Given the description of an element on the screen output the (x, y) to click on. 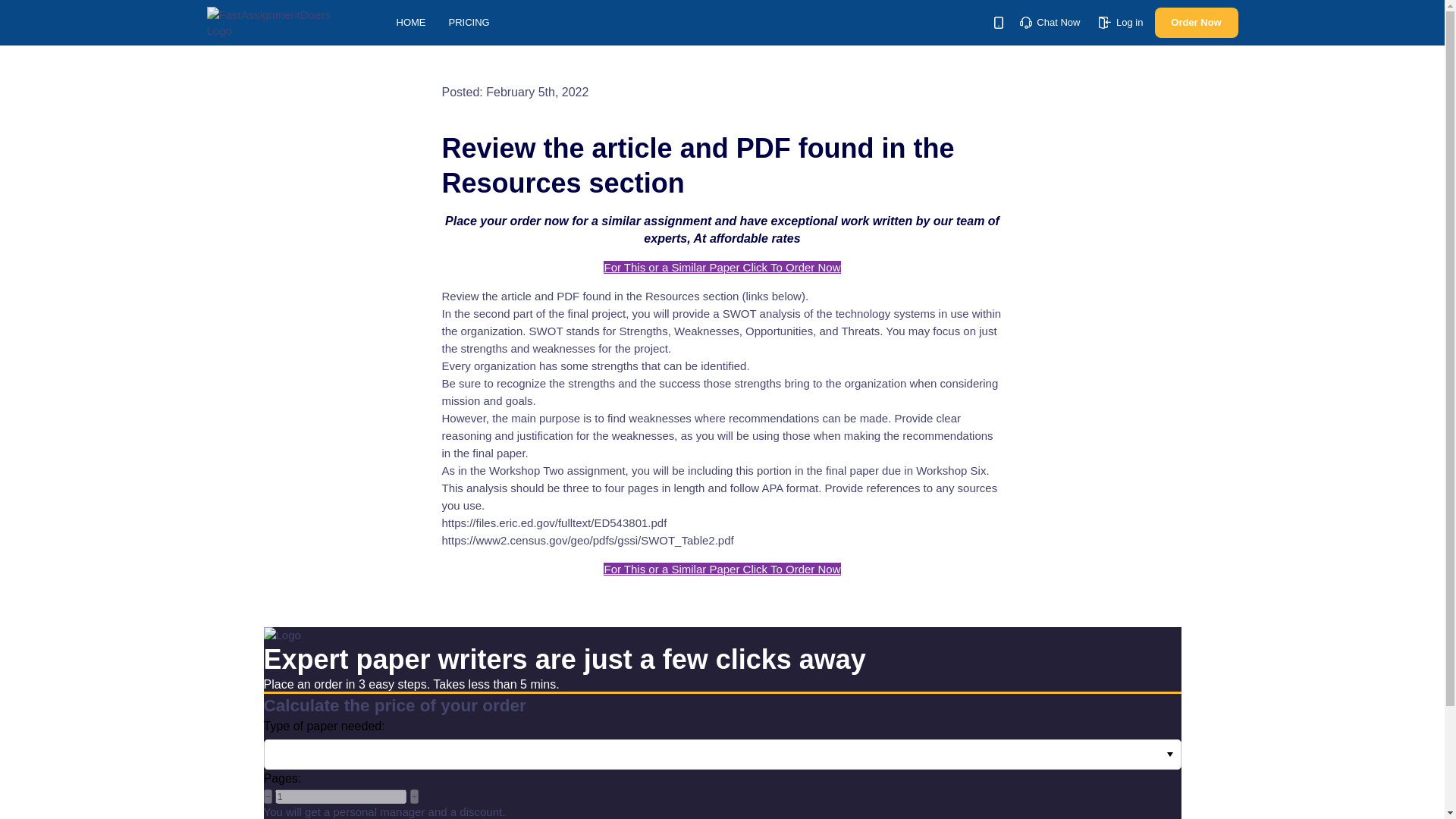
1 (340, 796)
Order Now (1195, 22)
Log in (1120, 21)
Chat Now (1050, 21)
HOME (410, 21)
For This or a Similar Paper Click To Order Now (722, 568)
For This or a Similar Paper Click To Order Now (722, 267)
PRICING (468, 21)
